Given the description of an element on the screen output the (x, y) to click on. 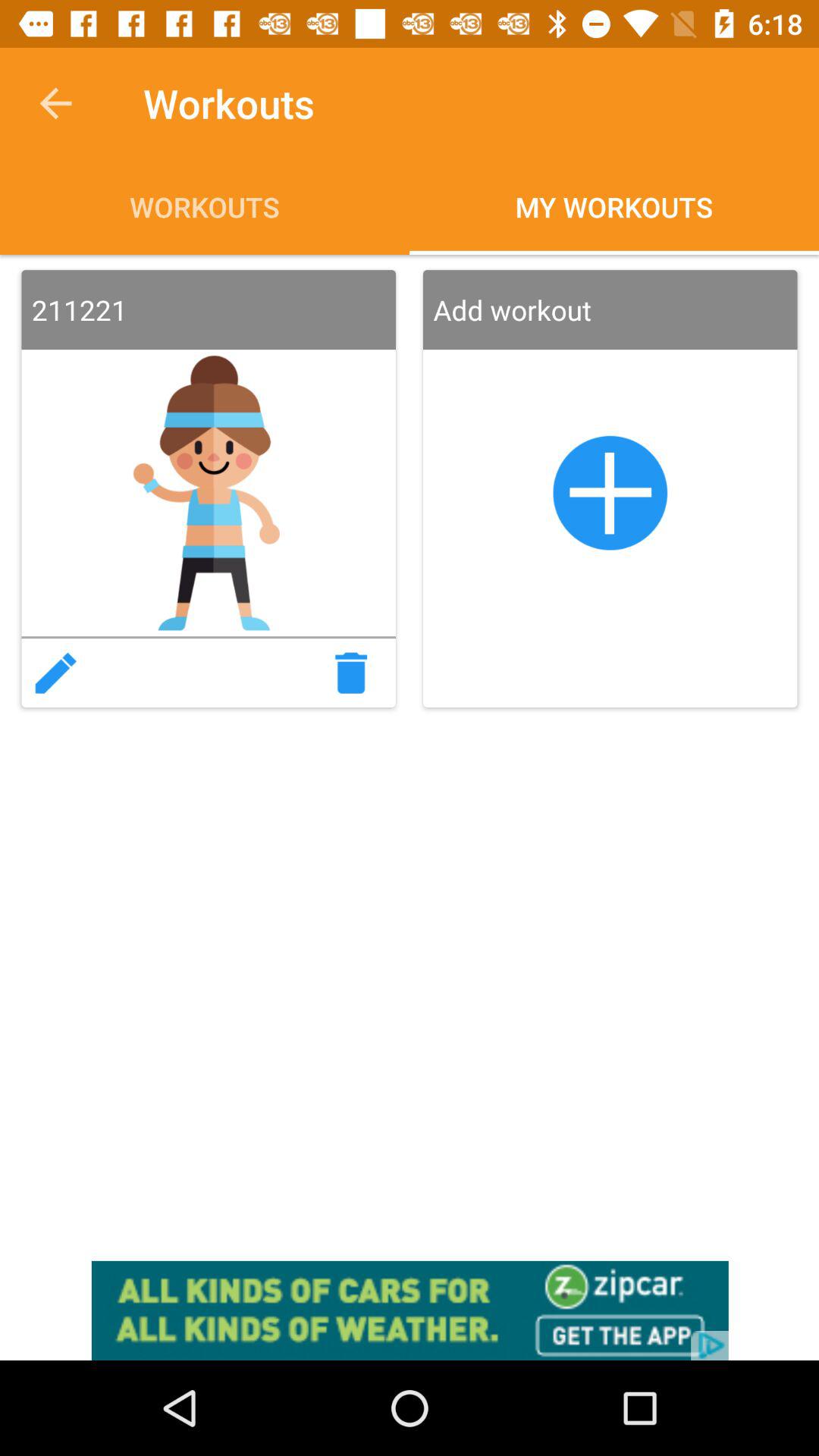
edit text (55, 672)
